Given the description of an element on the screen output the (x, y) to click on. 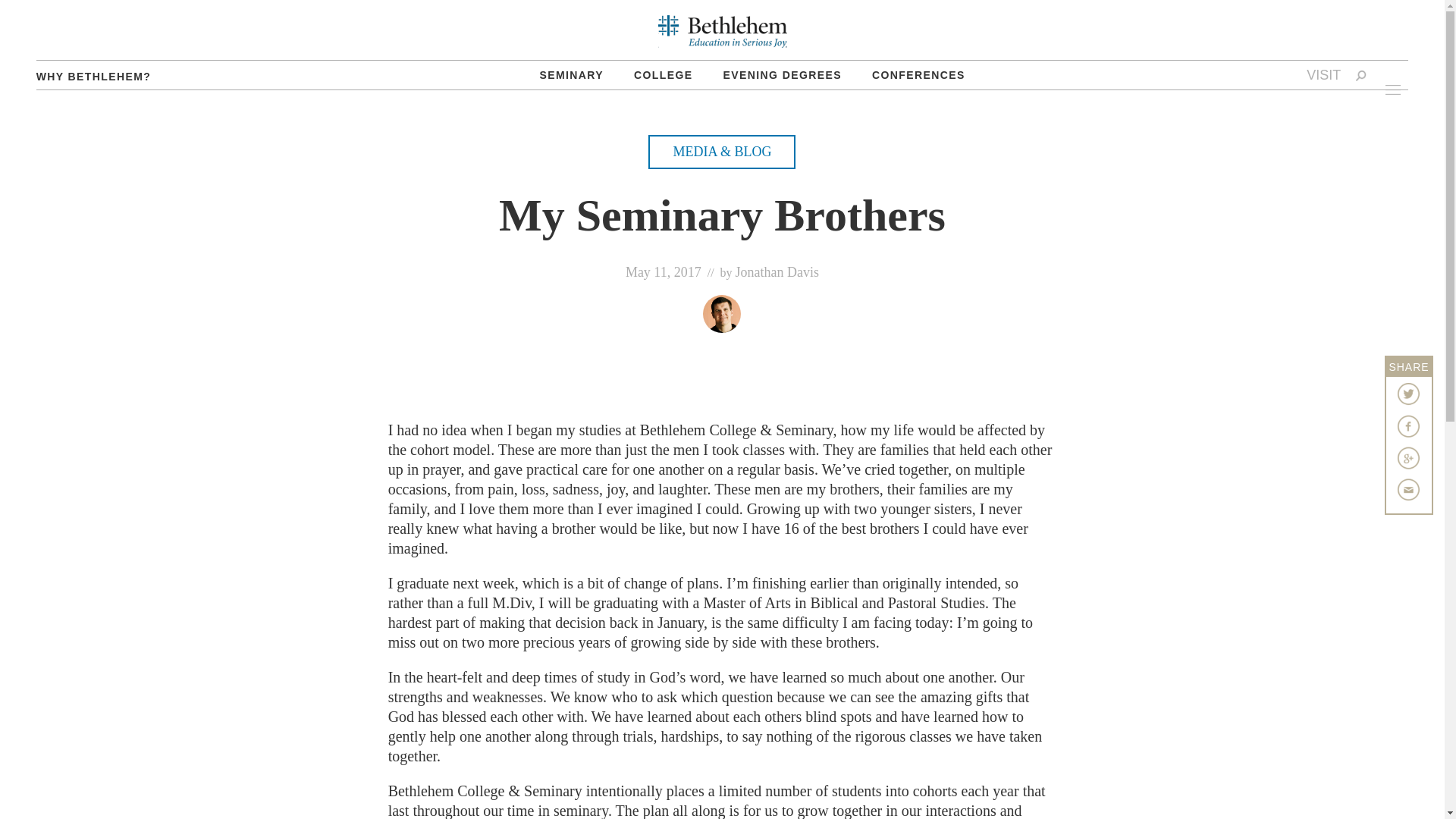
Bethlehem College and Seminary (722, 31)
EVENING DEGREES (782, 74)
WHY BETHLEHEM? (93, 76)
VISIT (1323, 74)
SEMINARY (571, 74)
May 11, 2017 (663, 272)
COLLEGE (662, 74)
Jonathan Davis (776, 272)
Share by Email (1409, 489)
CONFERENCES (918, 74)
